Given the description of an element on the screen output the (x, y) to click on. 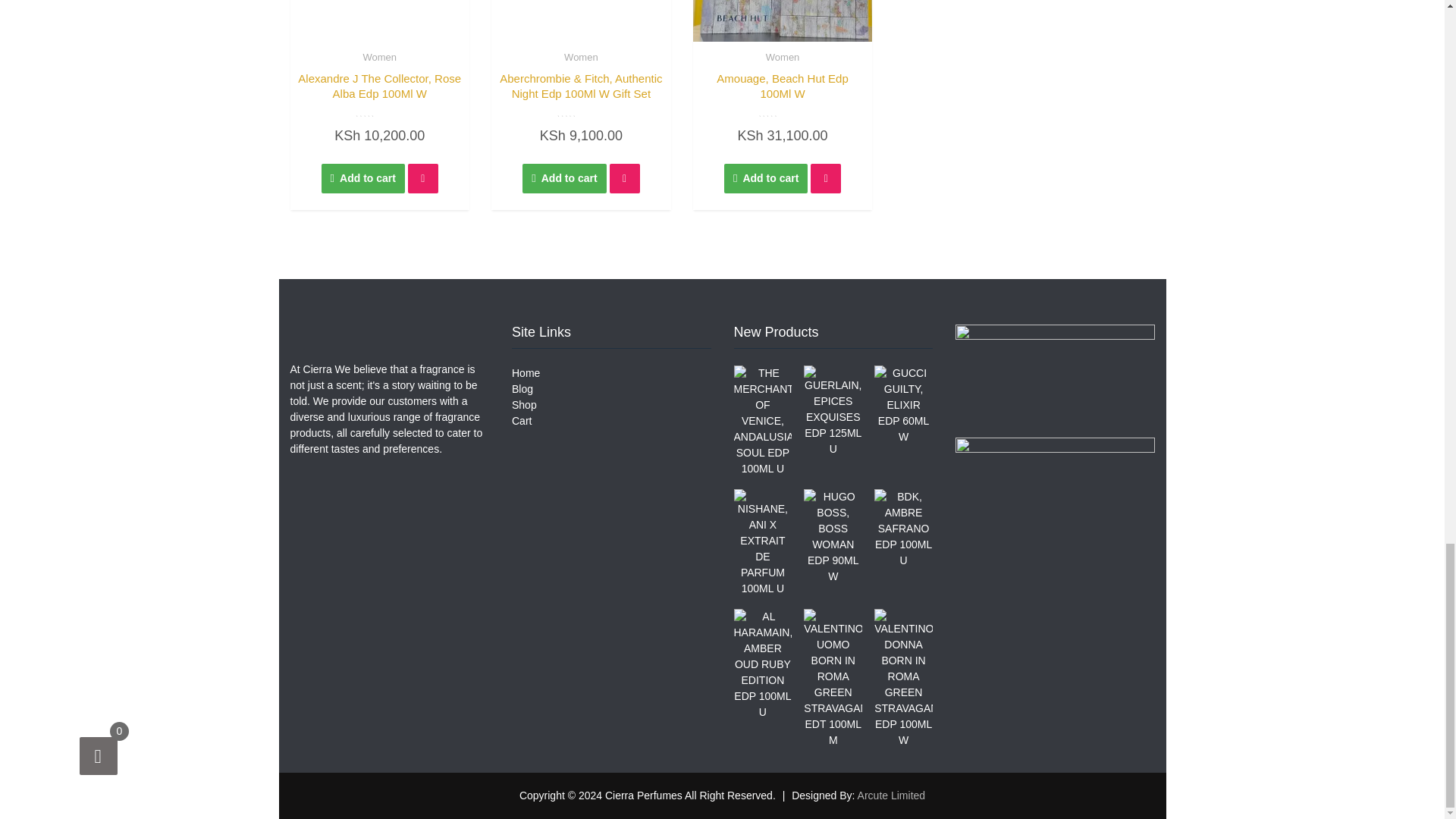
No Review (580, 112)
No Review (379, 112)
Compare (625, 178)
Compare (422, 178)
